Given the description of an element on the screen output the (x, y) to click on. 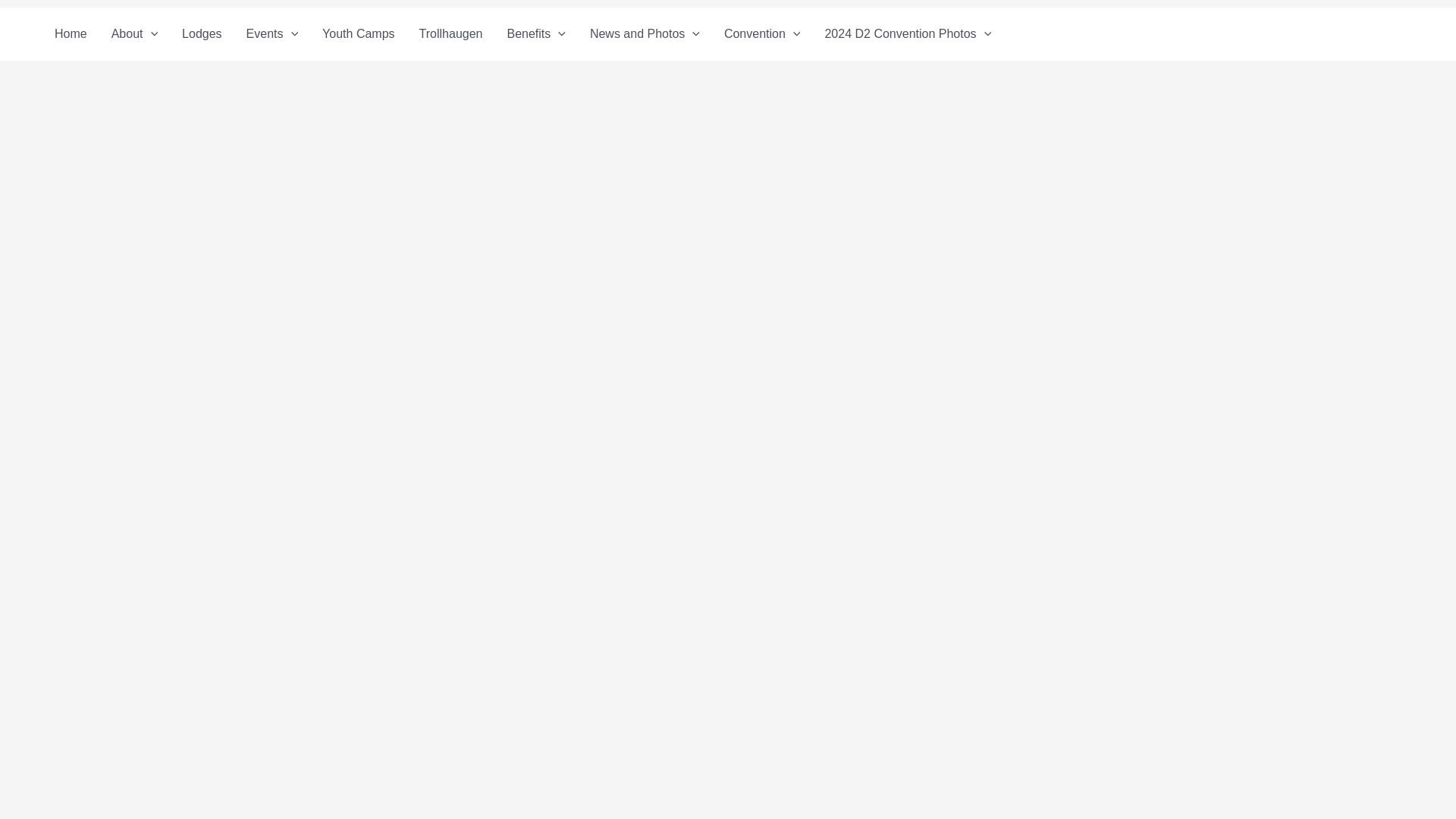
Lodges (202, 33)
Youth Camps (358, 33)
News and Photos (644, 33)
Trollhaugen (451, 33)
Benefits (535, 33)
About (134, 33)
Convention (761, 33)
Home (70, 33)
Events (272, 33)
